Given the description of an element on the screen output the (x, y) to click on. 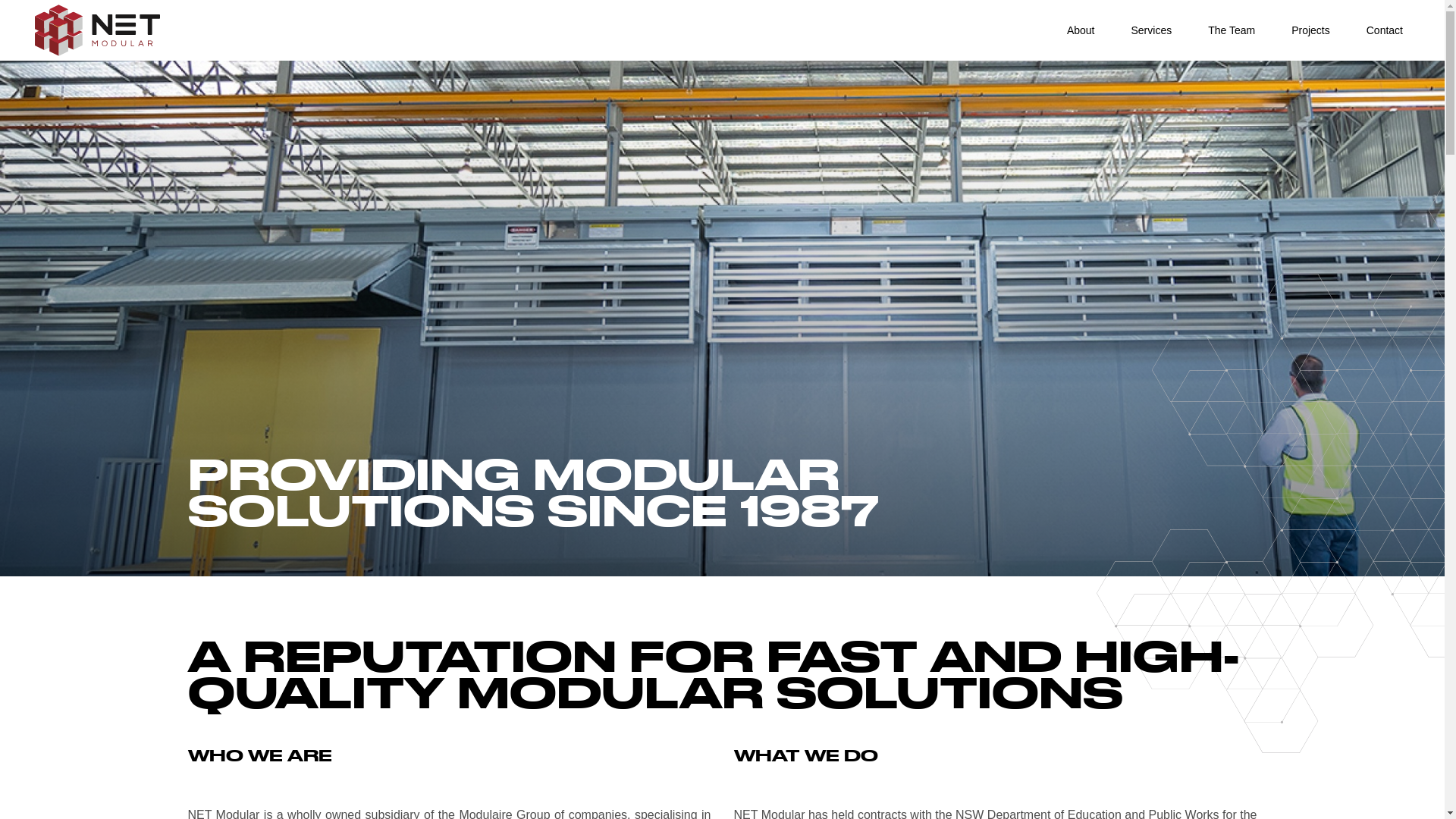
Projects Element type: text (1310, 30)
About Element type: text (1080, 30)
The Team Element type: text (1231, 30)
Contact Element type: text (1384, 30)
Services Element type: text (1150, 30)
